Given the description of an element on the screen output the (x, y) to click on. 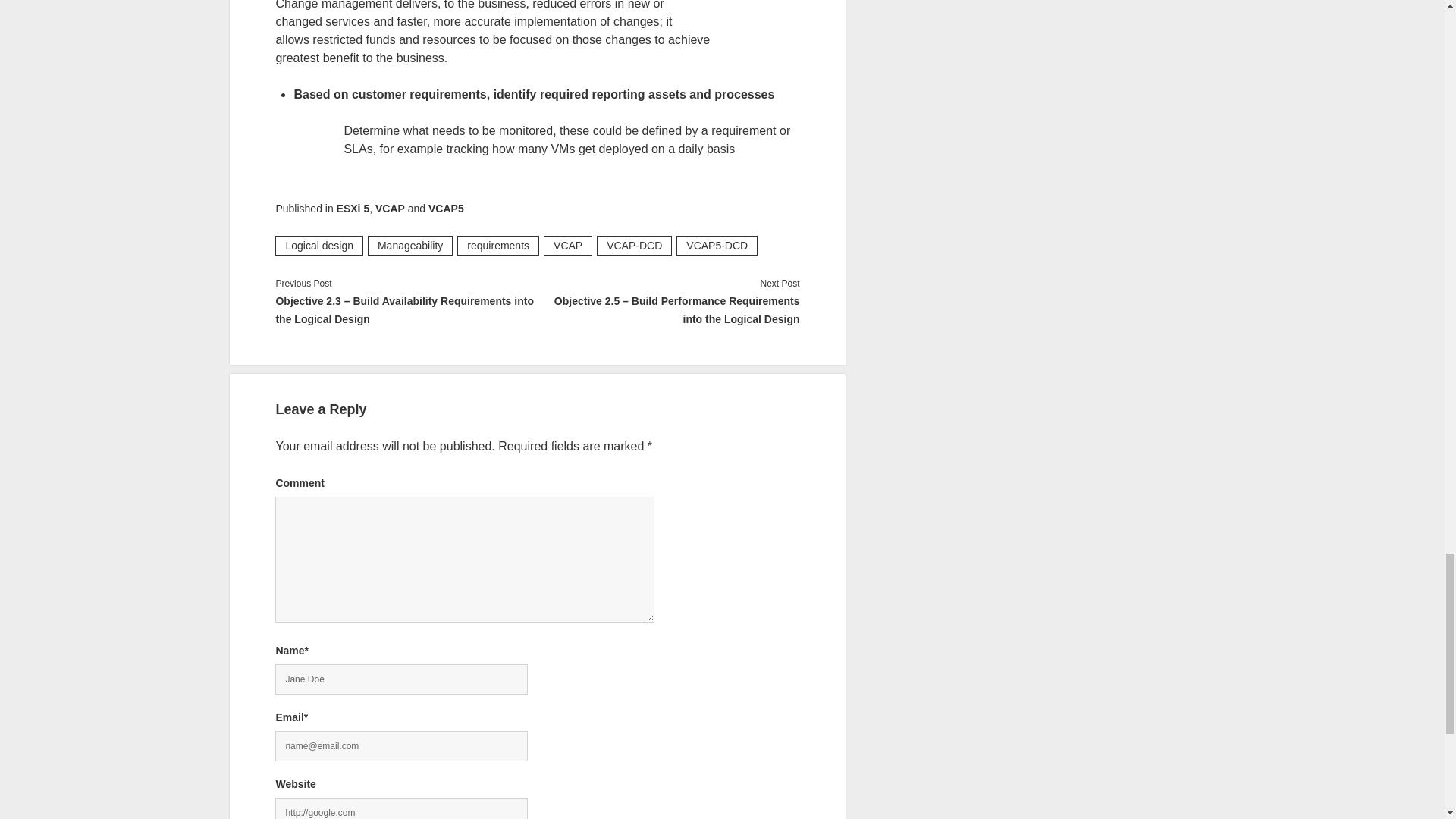
Logical design (318, 245)
View all posts tagged Logical design (318, 245)
View all posts tagged requirements (497, 245)
View all posts tagged VCAP5-DCD (717, 245)
View all posts in ESXi 5 (352, 208)
VCAP-DCD (633, 245)
VCAP (567, 245)
View all posts in VCAP5 (446, 208)
VCAP5 (446, 208)
View all posts in VCAP (389, 208)
